Given the description of an element on the screen output the (x, y) to click on. 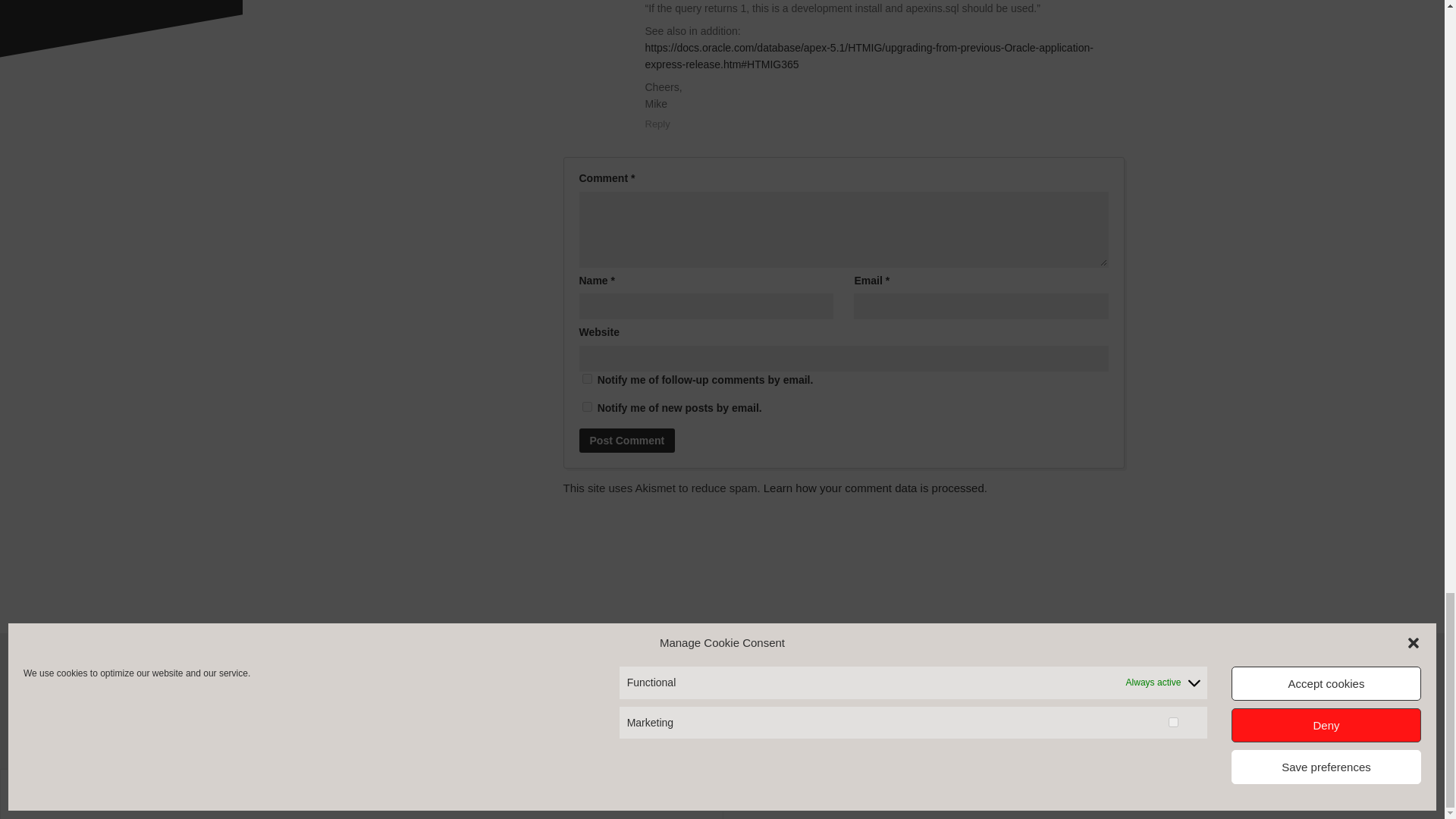
Post Comment (627, 440)
subscribe (587, 406)
subscribe (587, 378)
